Given the description of an element on the screen output the (x, y) to click on. 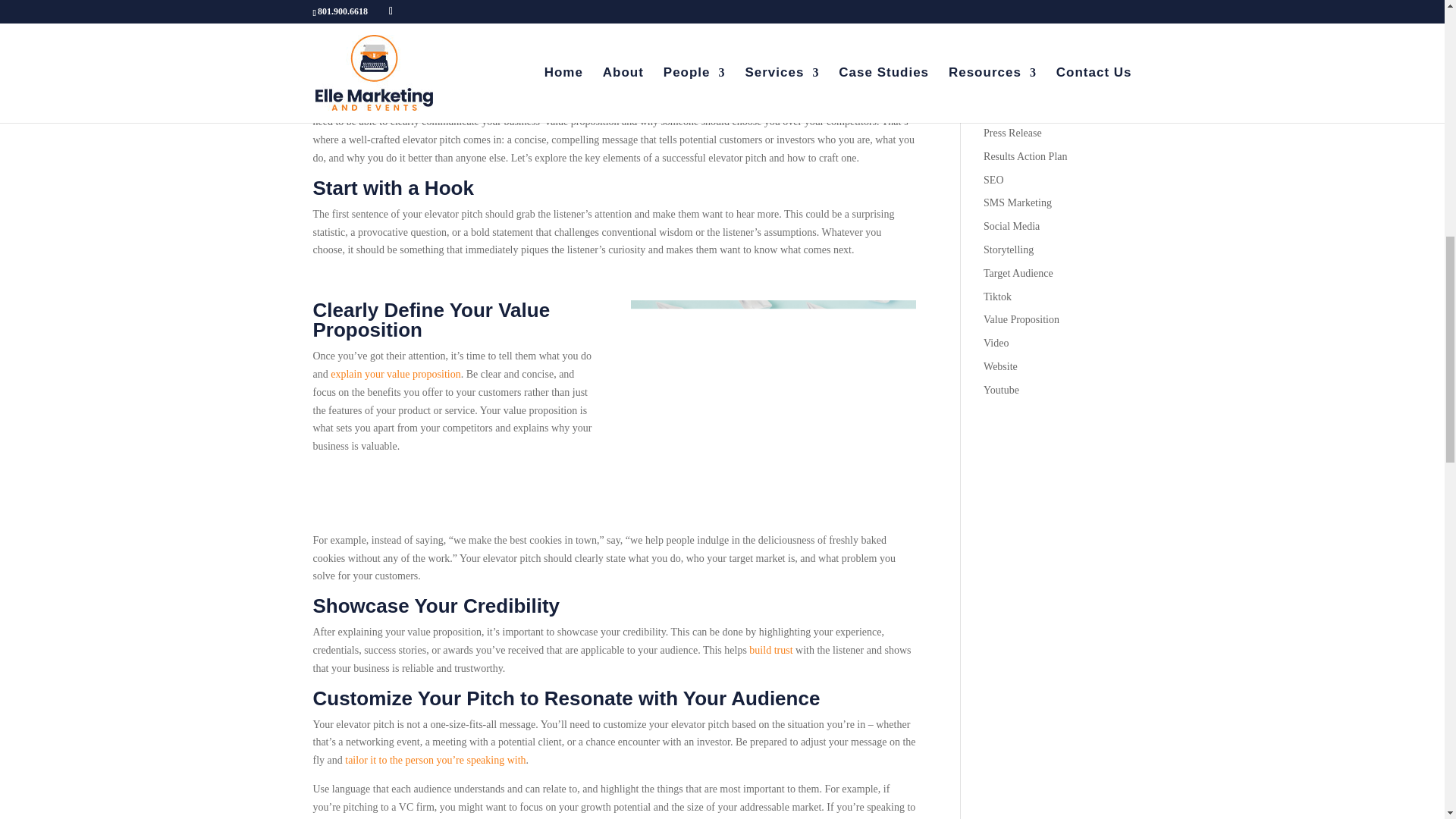
build trust (770, 650)
Clearly Define Your Value Proposition (772, 395)
explain your (358, 374)
value proposition (424, 374)
